Given the description of an element on the screen output the (x, y) to click on. 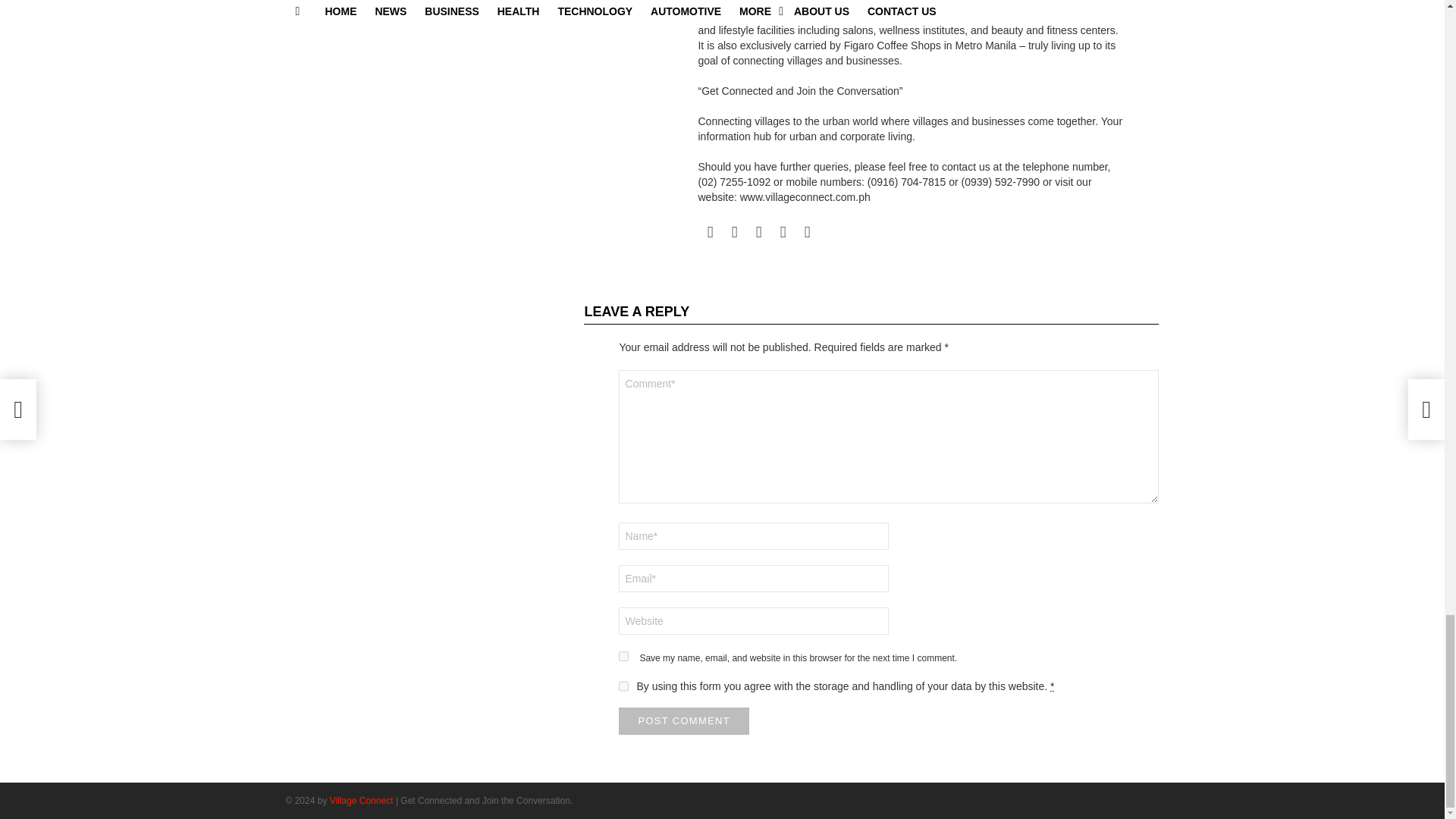
yes (623, 655)
Post Comment (683, 720)
linkedin (757, 232)
instagram (733, 232)
twitter (806, 232)
facebook (709, 232)
tiktok (782, 232)
